Given the description of an element on the screen output the (x, y) to click on. 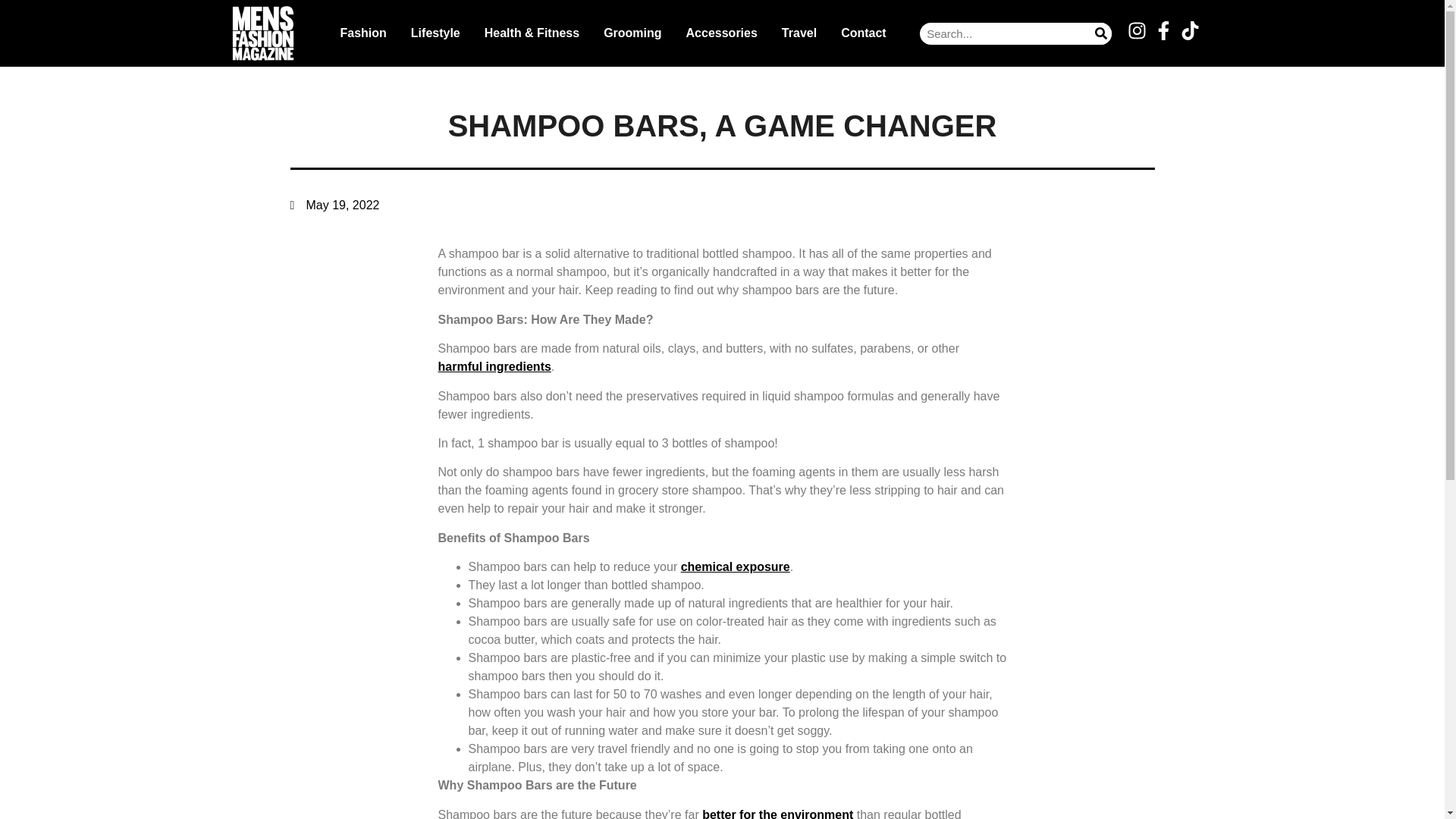
Travel (799, 33)
better for the environment (777, 813)
harmful ingredients (494, 366)
chemical exposure (735, 566)
Accessories (722, 33)
Contact (863, 33)
Grooming (631, 33)
Fashion (362, 33)
Lifestyle (434, 33)
May 19, 2022 (333, 205)
